Given the description of an element on the screen output the (x, y) to click on. 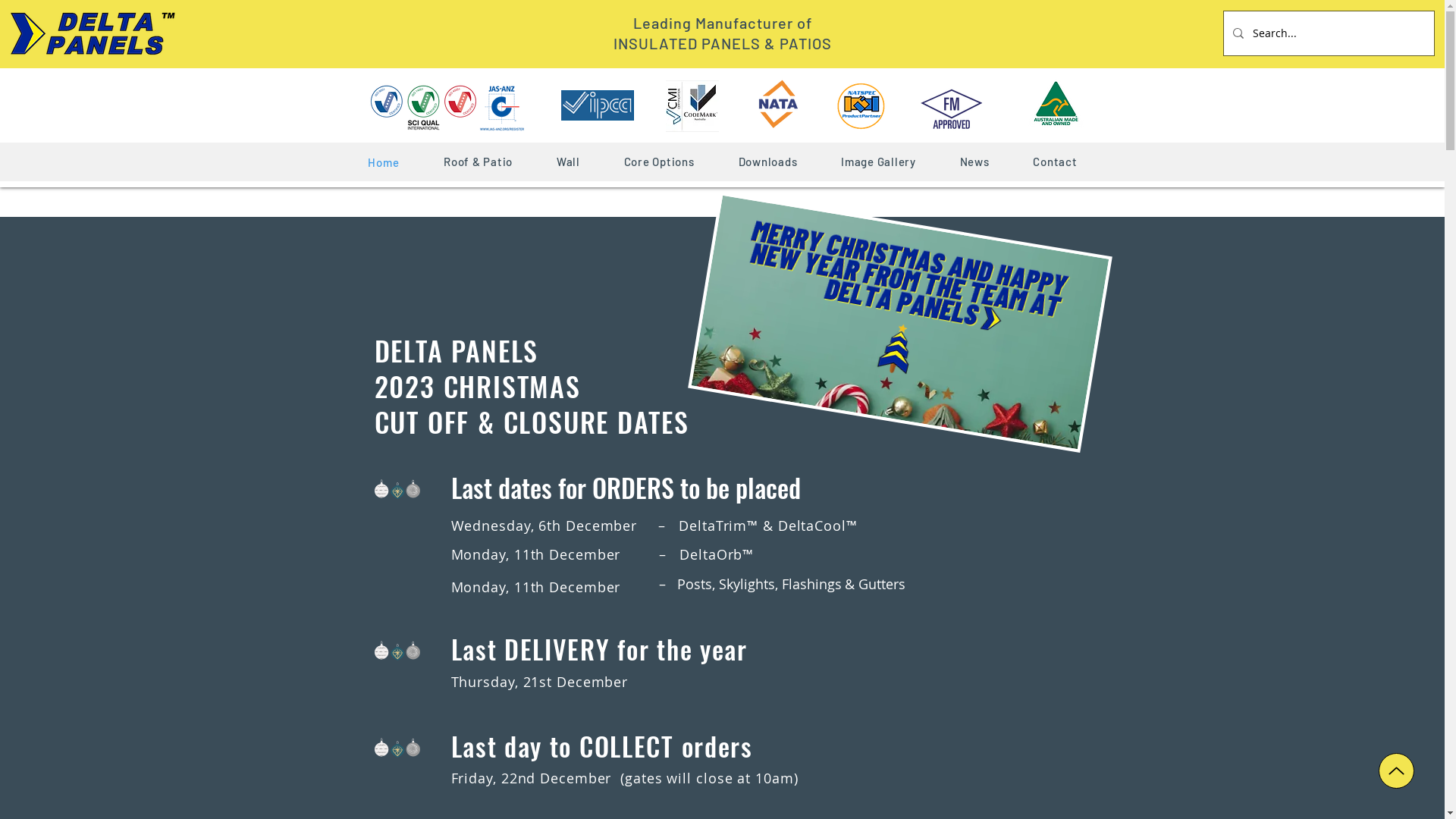
Image Gallery Element type: text (878, 161)
Core Options Element type: text (659, 161)
NATA.png Element type: hover (777, 103)
Home Element type: text (383, 162)
Contact Element type: text (1054, 161)
DMP Christmas CUT OFF DATES-fotor-202310 Element type: hover (886, 290)
